Given the description of an element on the screen output the (x, y) to click on. 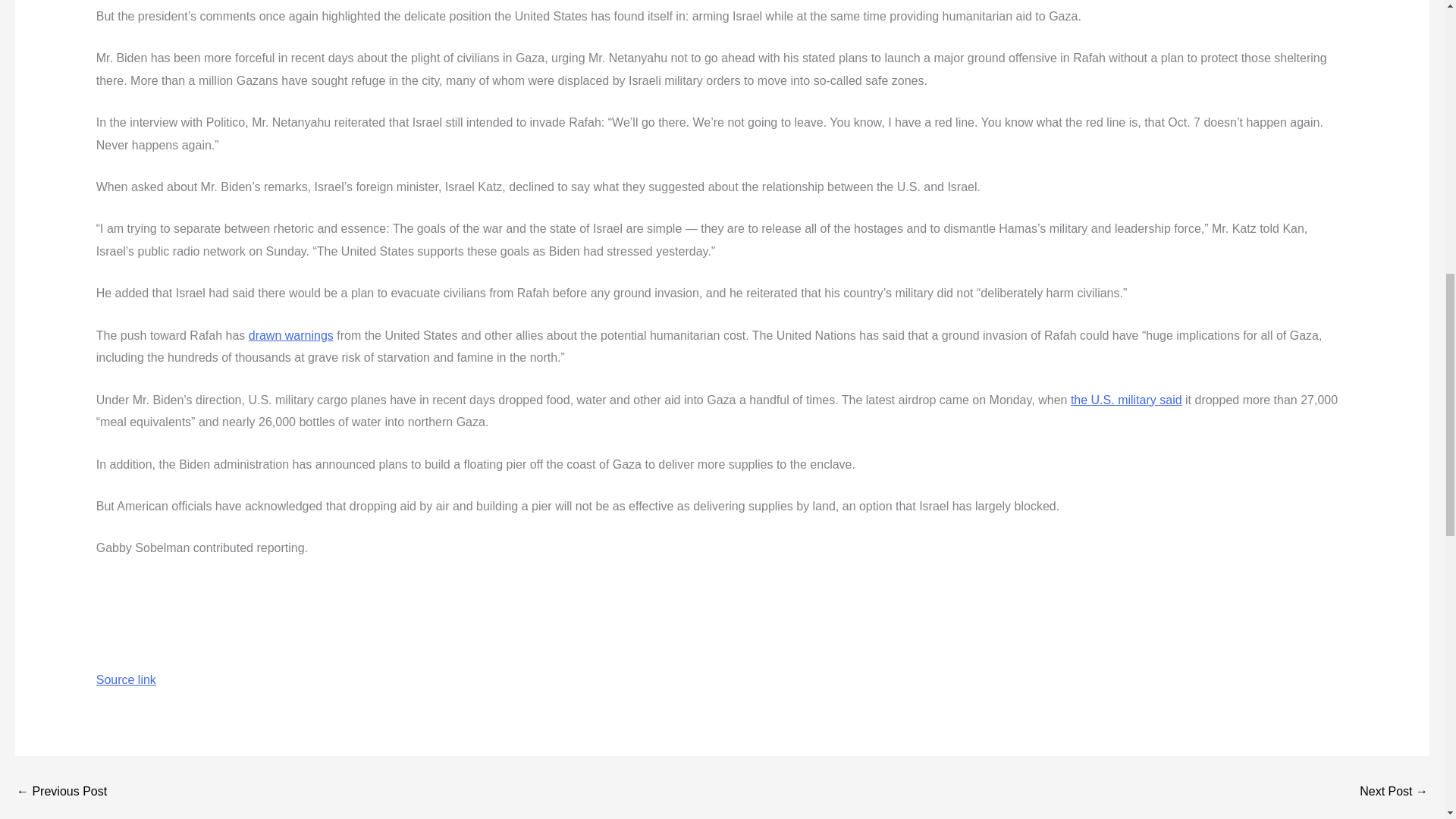
Report: Patriots to sign QB Jacoby Brissett (1393, 791)
the U.S. military said (1126, 399)
drawn warnings (290, 335)
Source link (125, 679)
